Given the description of an element on the screen output the (x, y) to click on. 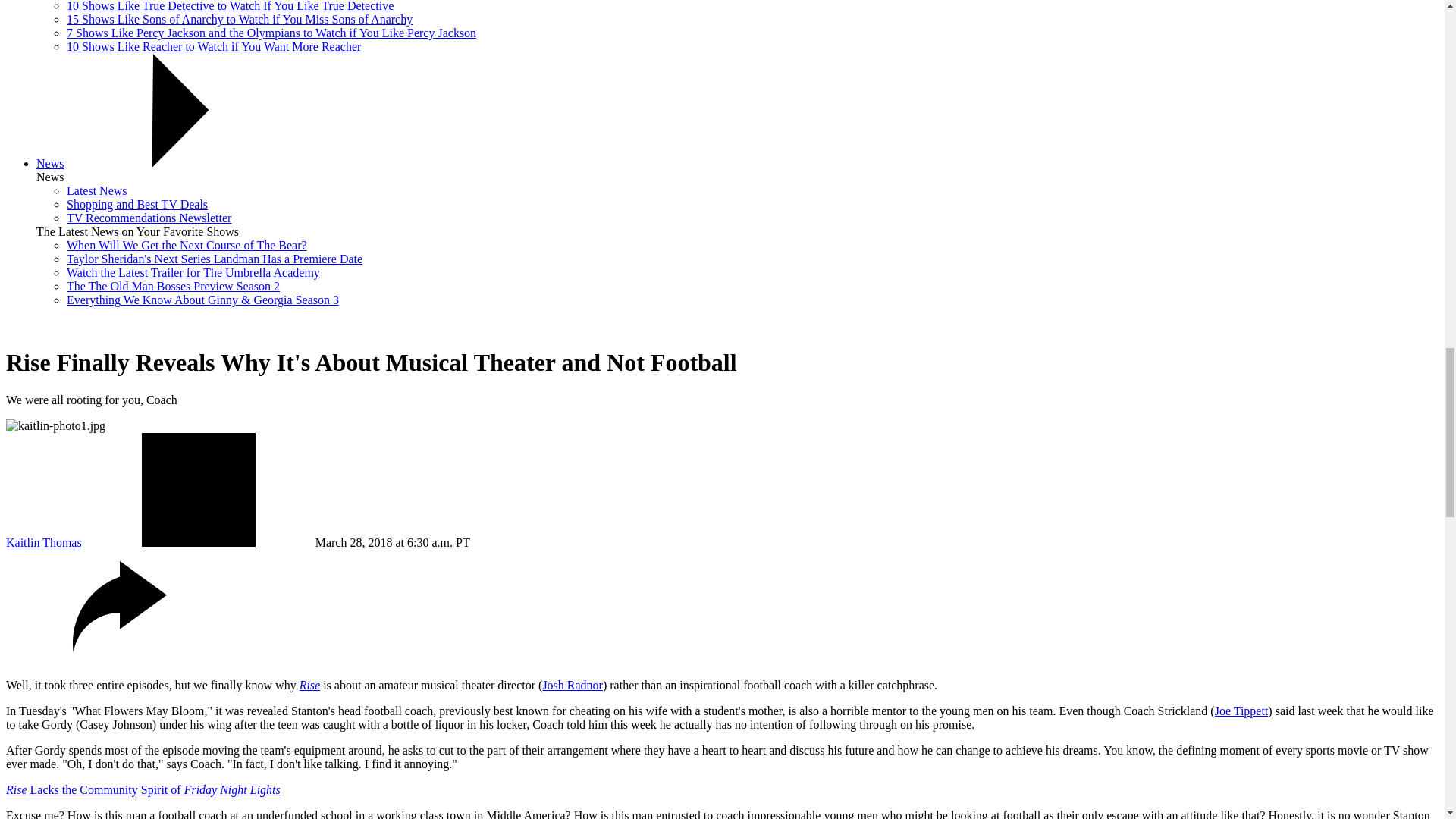
When Will We Get the Next Course of The Bear? (186, 245)
Latest News (97, 190)
TV Recommendations Newsletter (148, 217)
10 Shows Like Reacher to Watch if You Want More Reacher (213, 46)
Shopping and Best TV Deals (137, 204)
News (50, 163)
